Given the description of an element on the screen output the (x, y) to click on. 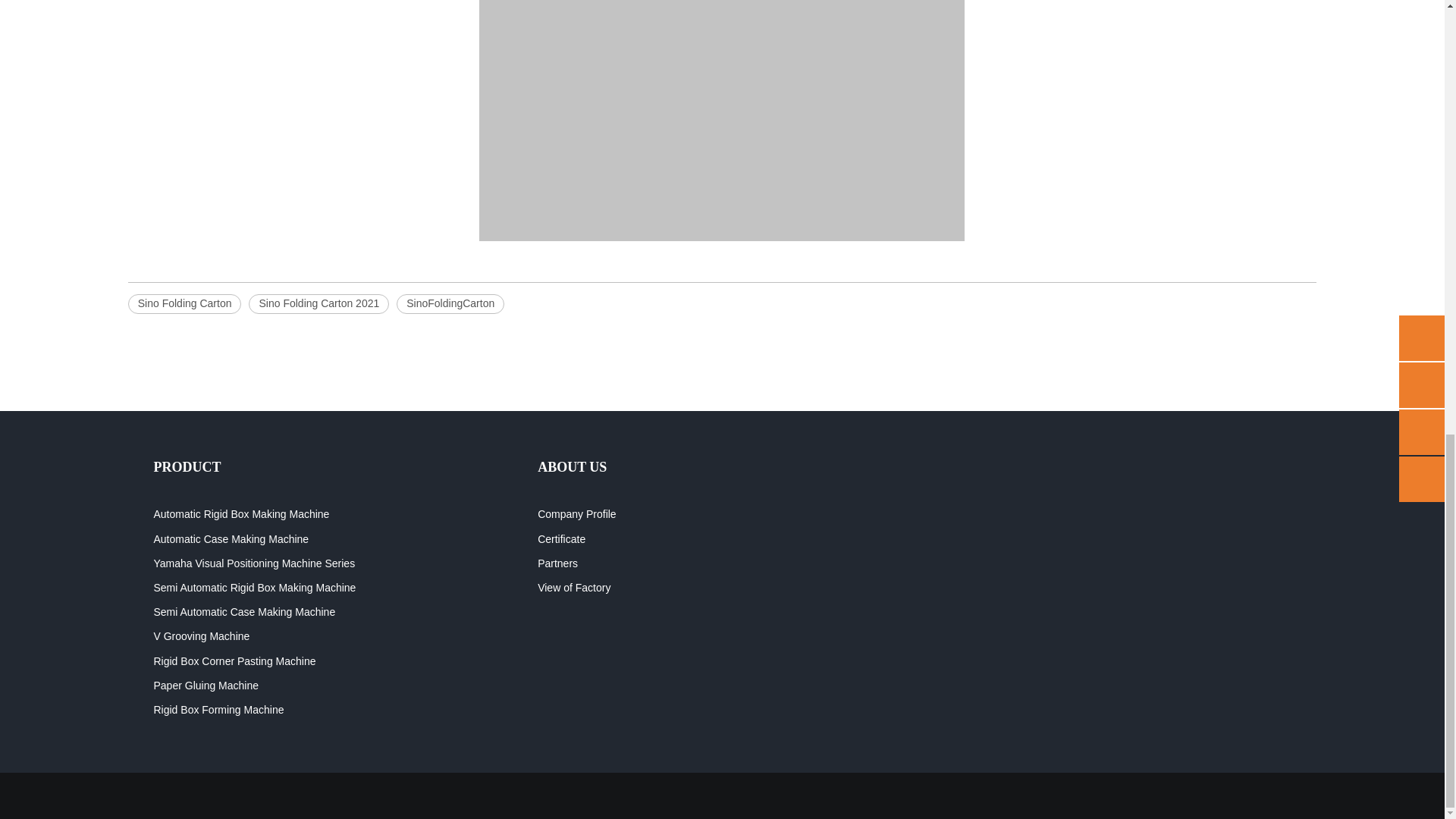
Automatic Case Making Machine  (230, 539)
Automatic Rigid Box Making Machine (240, 513)
SinoFoldingCarton (449, 303)
Sino Folding Carton 2021 (318, 303)
Sino Folding Carton (184, 303)
